Given the description of an element on the screen output the (x, y) to click on. 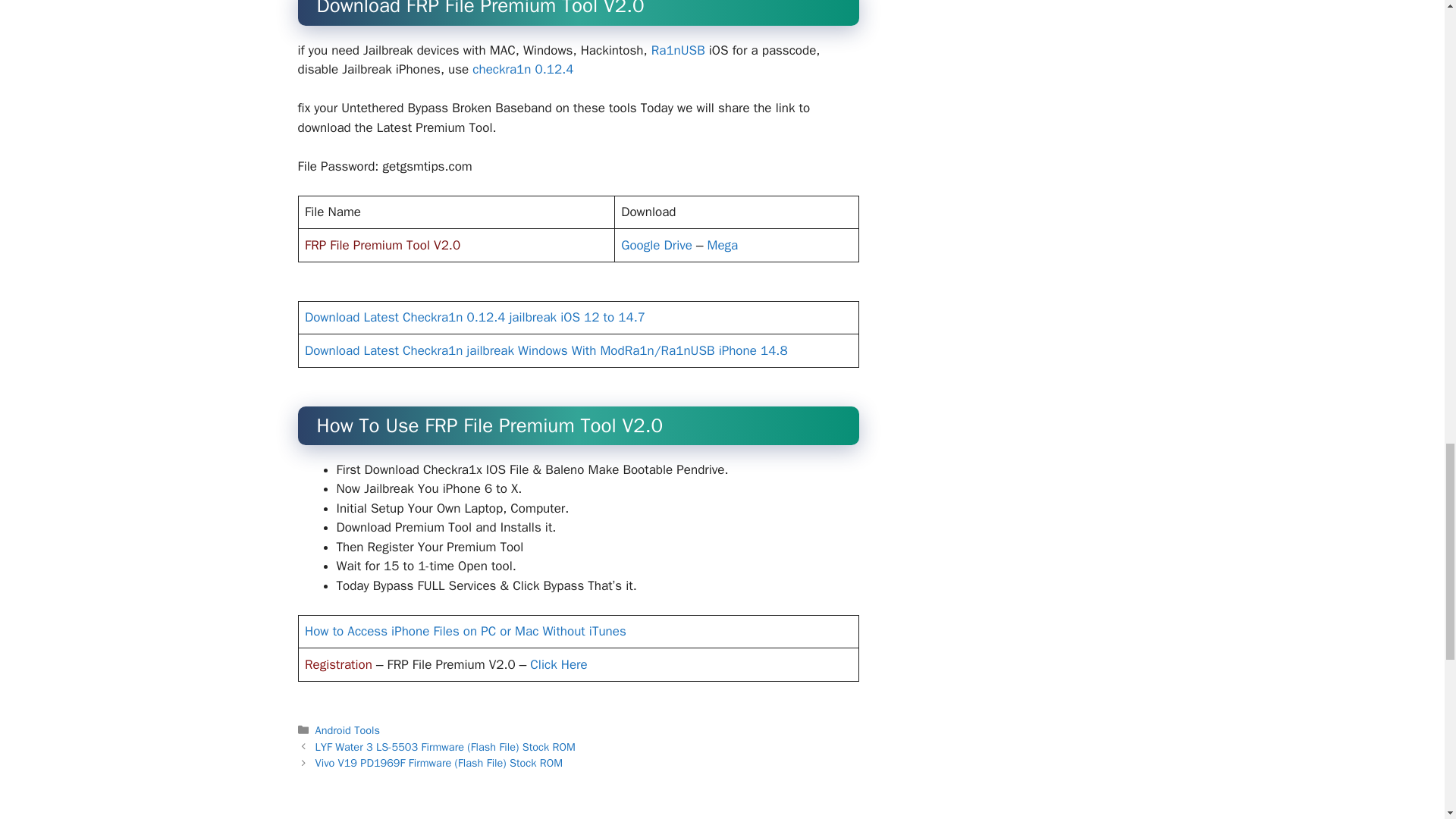
Android Tools (347, 730)
Ra1nUSB (677, 50)
Click Here (557, 664)
How to Access iPhone Files on PC or Mac Without iTunes (465, 631)
checkra1n 0.12.4 (522, 68)
Google Drive (657, 245)
Mega (722, 245)
Download Latest Checkra1n 0.12.4 jailbreak iOS 12 to 14.7 (474, 317)
